Given the description of an element on the screen output the (x, y) to click on. 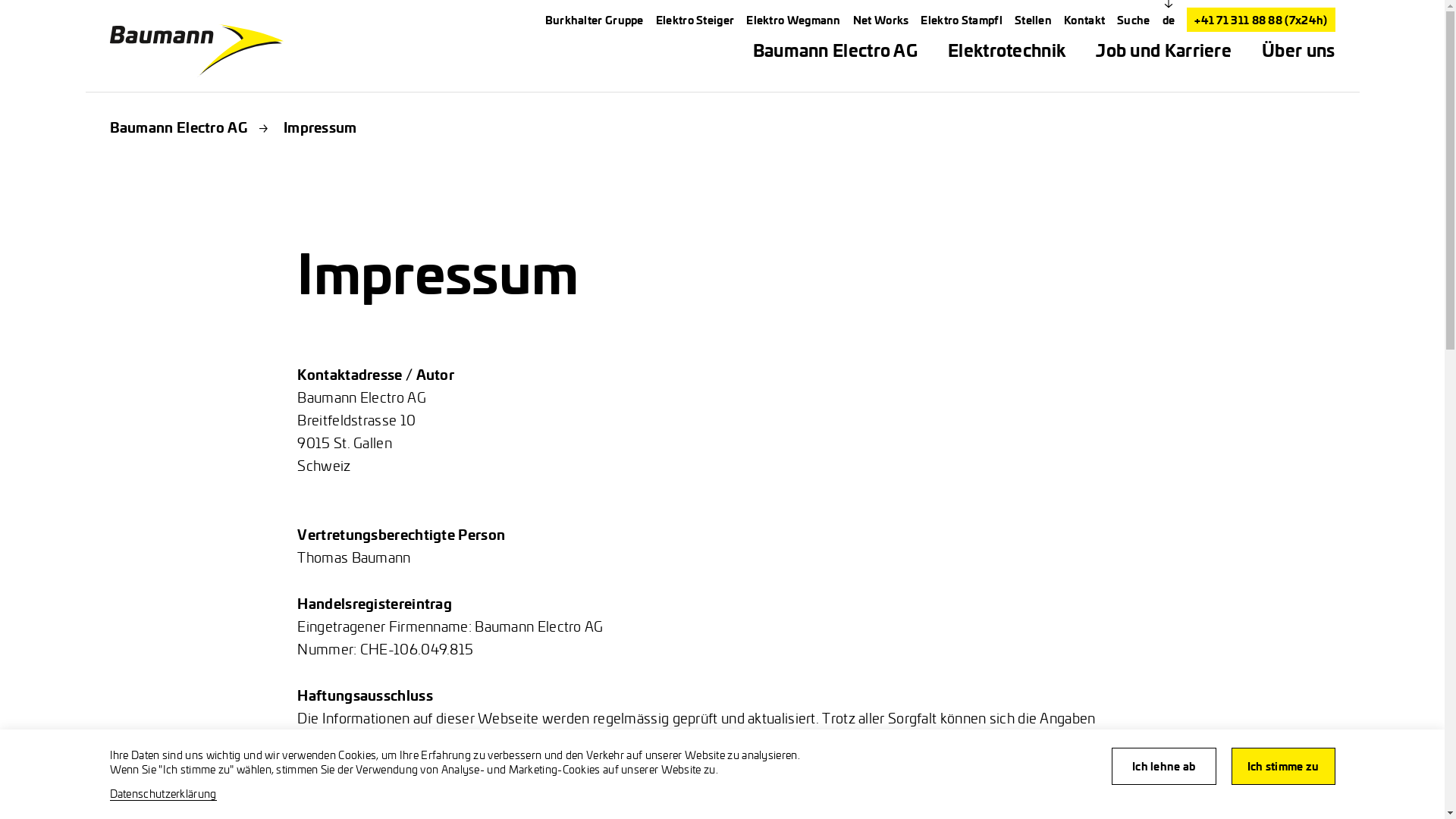
Kontakt Element type: text (1083, 20)
Elektrotechnik Element type: text (1006, 49)
de Element type: text (1168, 20)
Stellen Element type: text (1032, 20)
Net Works Element type: text (881, 20)
Job und Karriere Element type: text (1163, 49)
Elektro Stampfl Element type: text (961, 20)
Elektro Wegmann Element type: text (793, 20)
Baumann Electro AG Element type: text (177, 126)
+41 71 311 88 88 (7x24h) Element type: text (1260, 19)
Elektro Steiger Element type: text (694, 20)
Burkhalter Gruppe Element type: text (594, 20)
Ich stimme zu Element type: text (1283, 765)
Baumann Electro AG Element type: text (835, 49)
Ich lehne ab Element type: text (1163, 765)
Suche Element type: text (1133, 20)
